Given the description of an element on the screen output the (x, y) to click on. 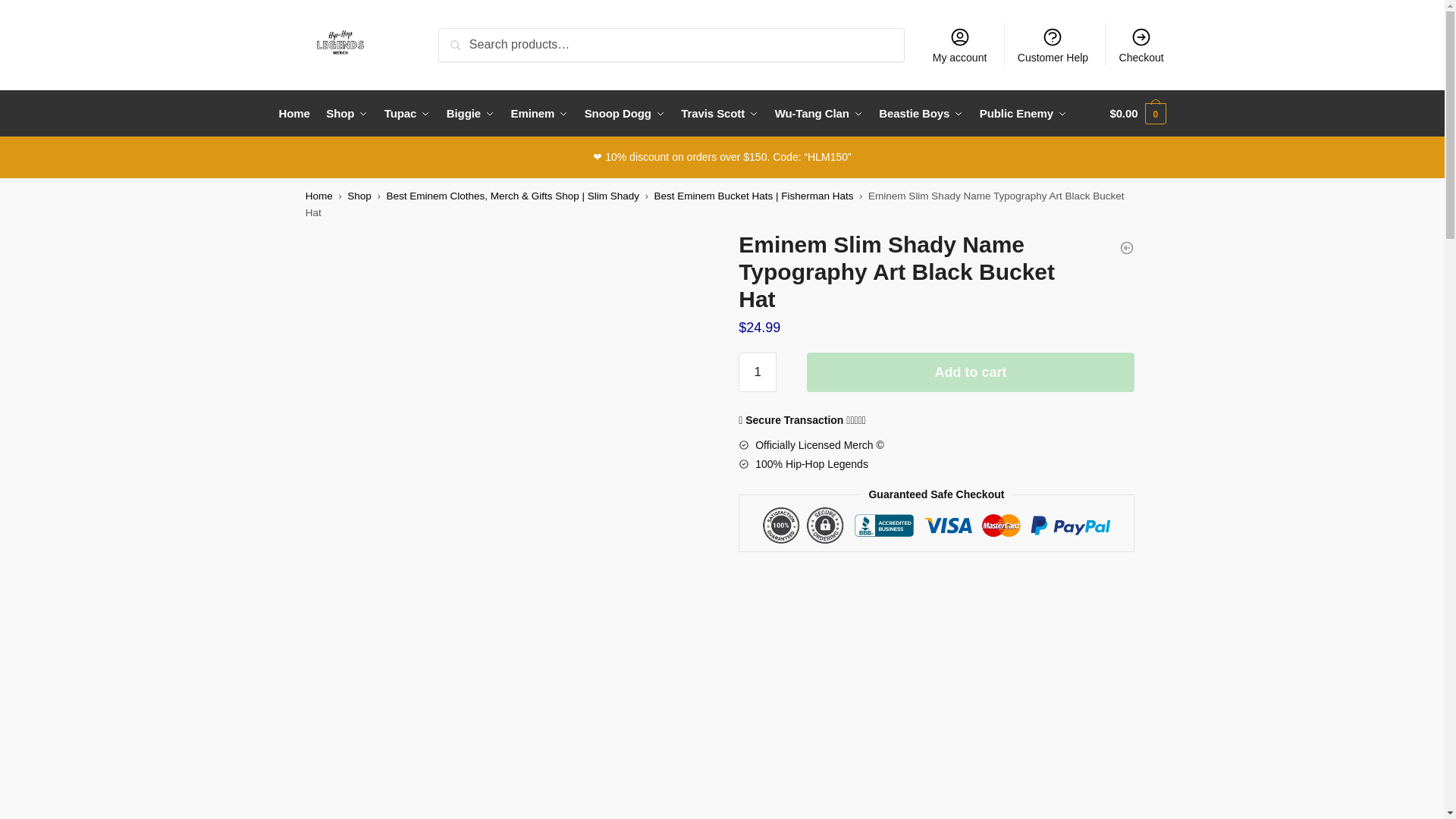
Biggie (470, 113)
My account (959, 44)
Home (298, 113)
Tupac (407, 113)
Customer Help (1053, 44)
View your shopping cart (1137, 113)
Search (462, 38)
Shop (347, 113)
1 (757, 372)
Checkout (1141, 44)
